Given the description of an element on the screen output the (x, y) to click on. 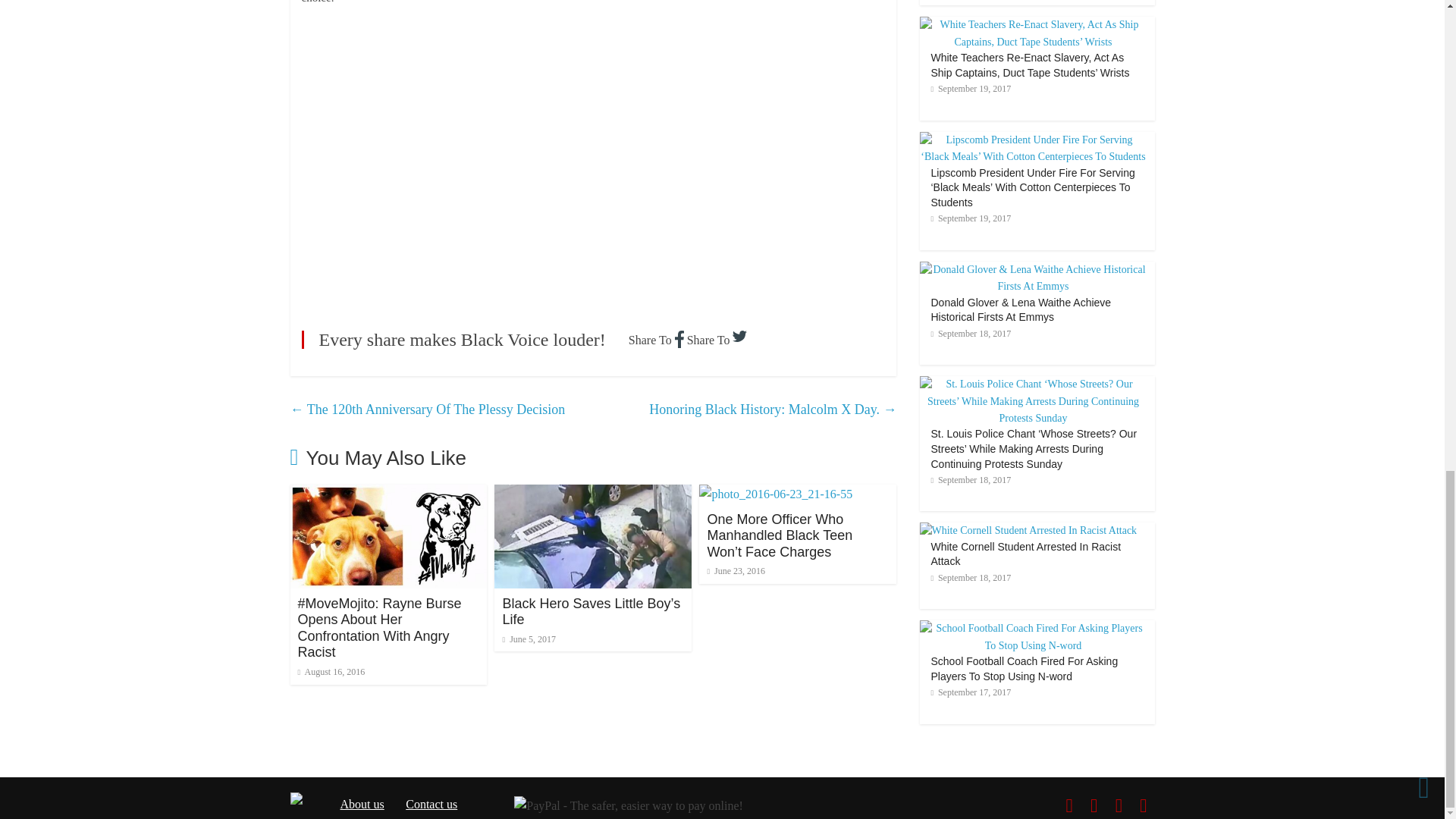
8:40 pm (534, 638)
June 5, 2017 (534, 638)
August 16, 2016 (336, 671)
June 23, 2016 (741, 570)
7:36 am (336, 671)
